Given the description of an element on the screen output the (x, y) to click on. 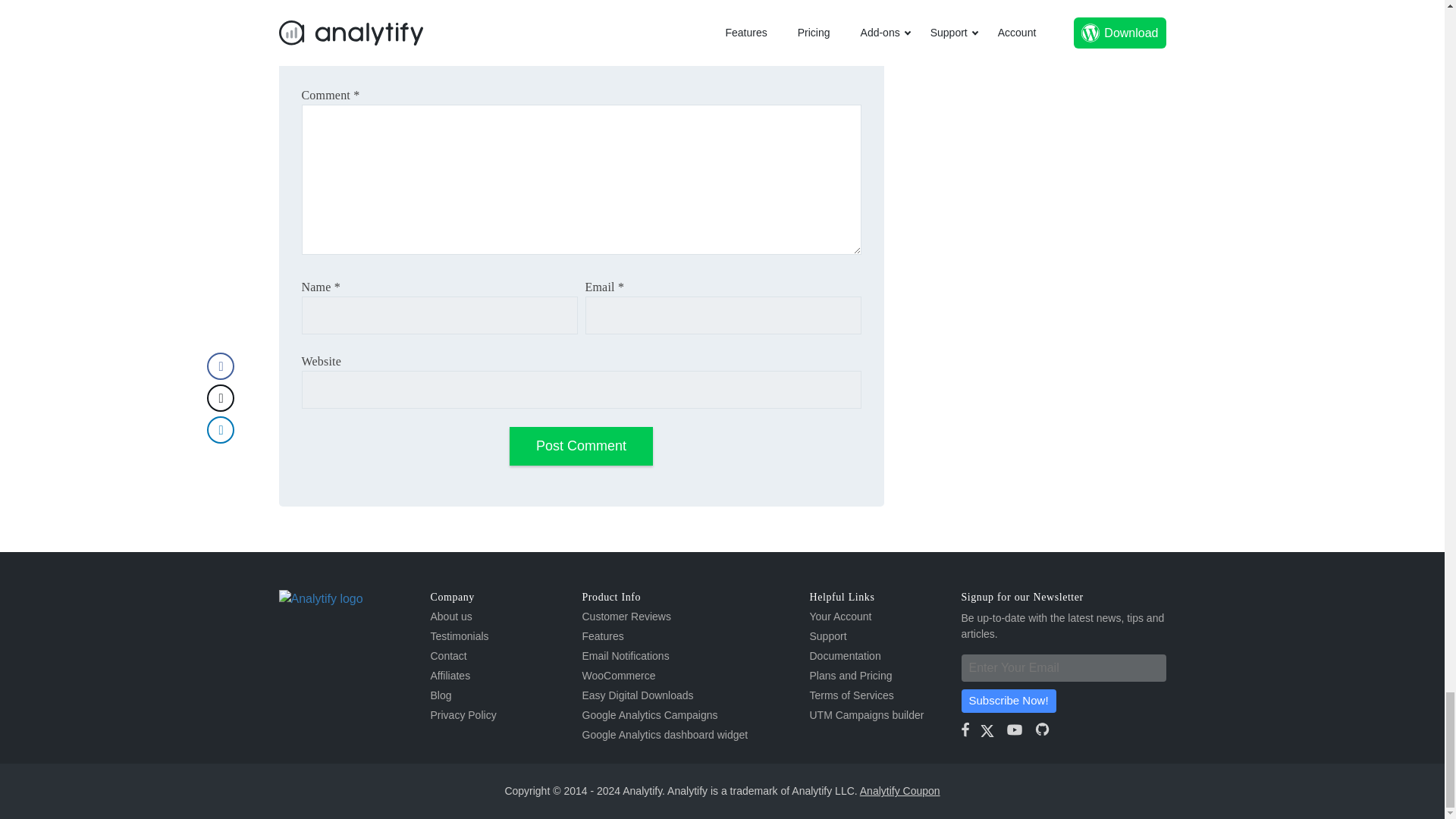
Post Comment (580, 446)
Subscribe Now! (1008, 700)
